Given the description of an element on the screen output the (x, y) to click on. 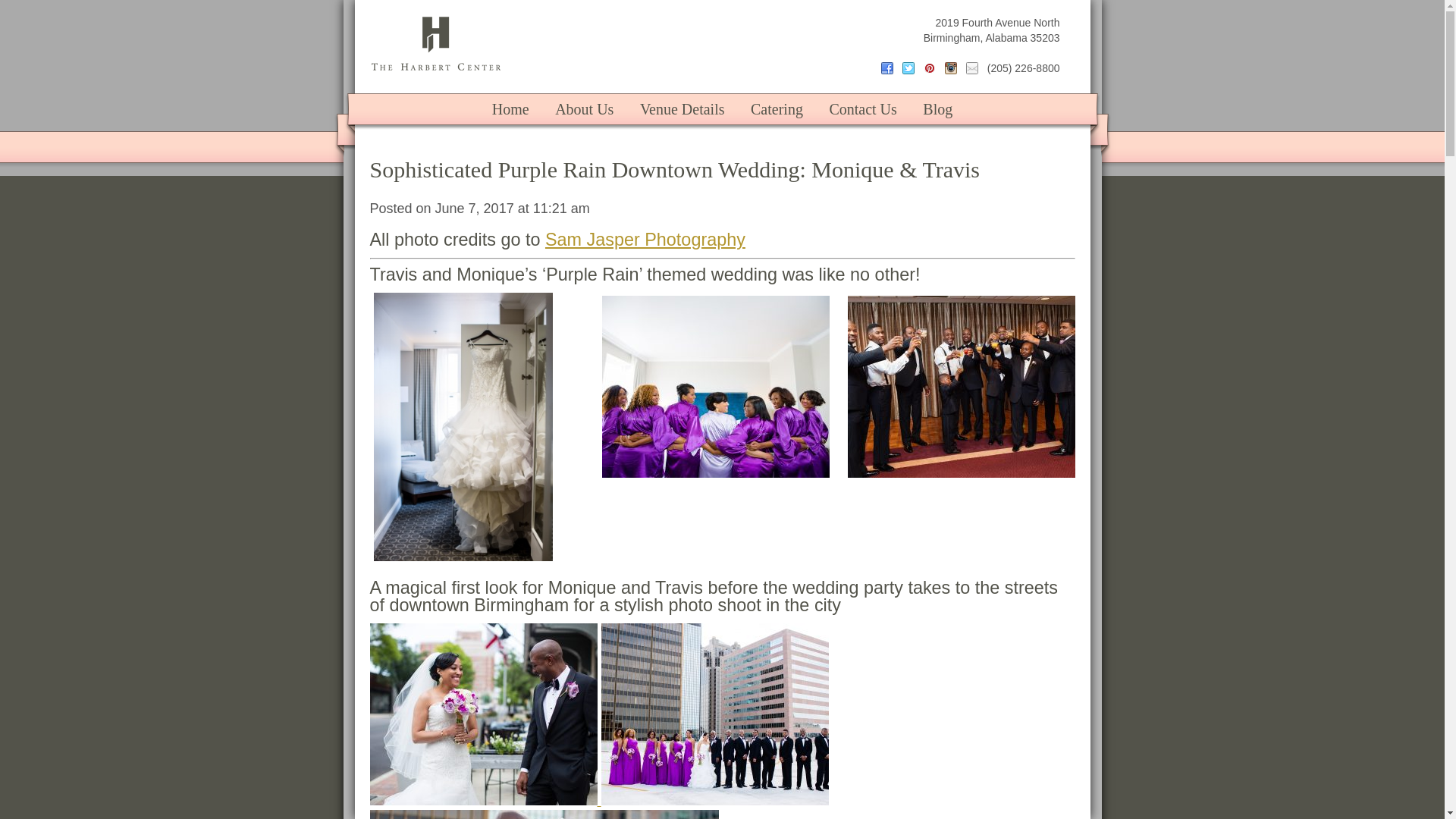
Sam Jasper Photography (644, 239)
Catering (776, 109)
Blog (937, 109)
Contact Us (861, 109)
Home (510, 109)
The Harbert Center (435, 43)
Venue Details (682, 109)
About Us (583, 109)
